Given the description of an element on the screen output the (x, y) to click on. 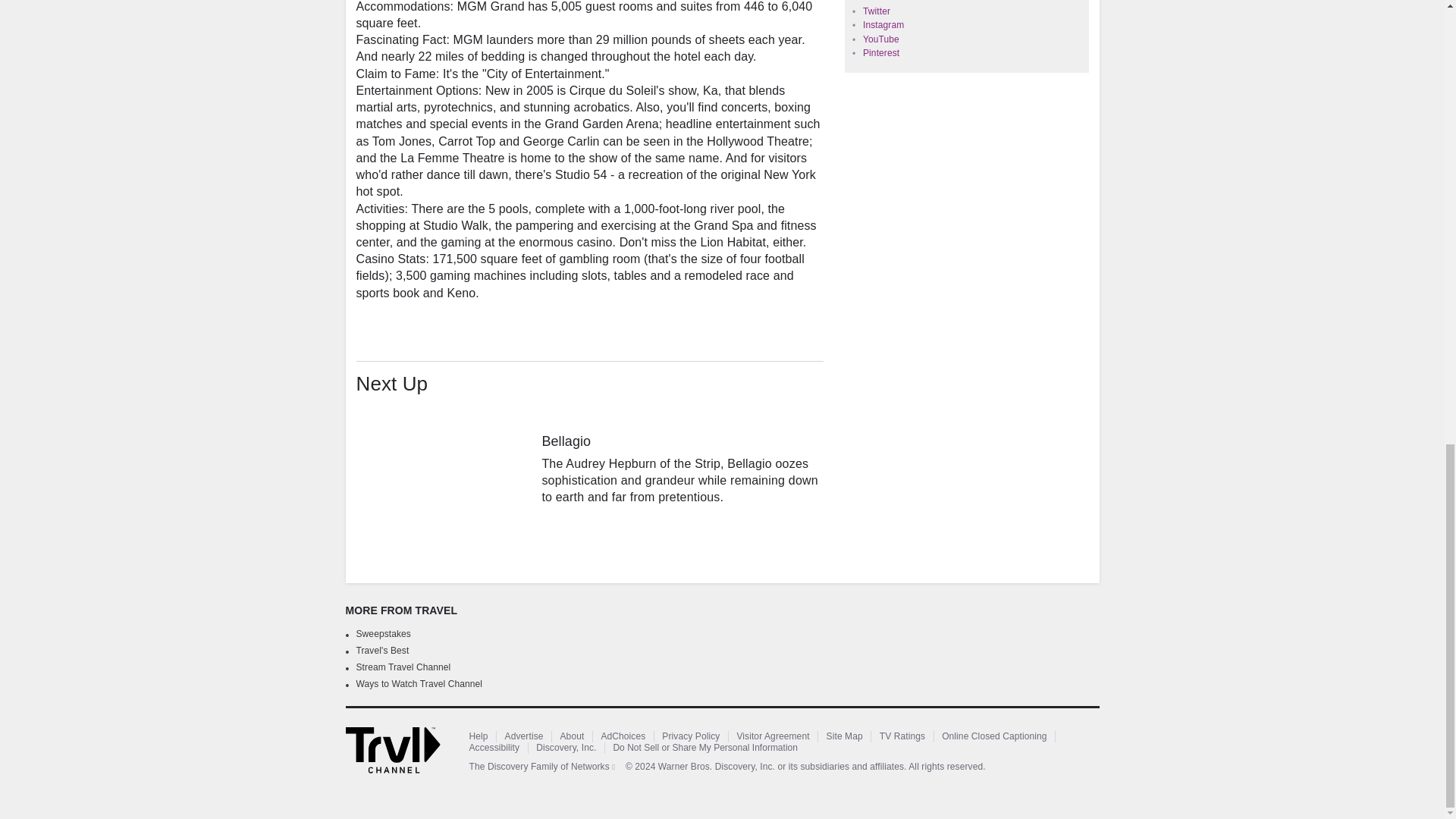
Ways to Watch Travel Channel (419, 683)
Sweepstakes (383, 633)
Bellagio (443, 472)
Stream Travel Channel (403, 666)
Travel's Best (382, 650)
